Given the description of an element on the screen output the (x, y) to click on. 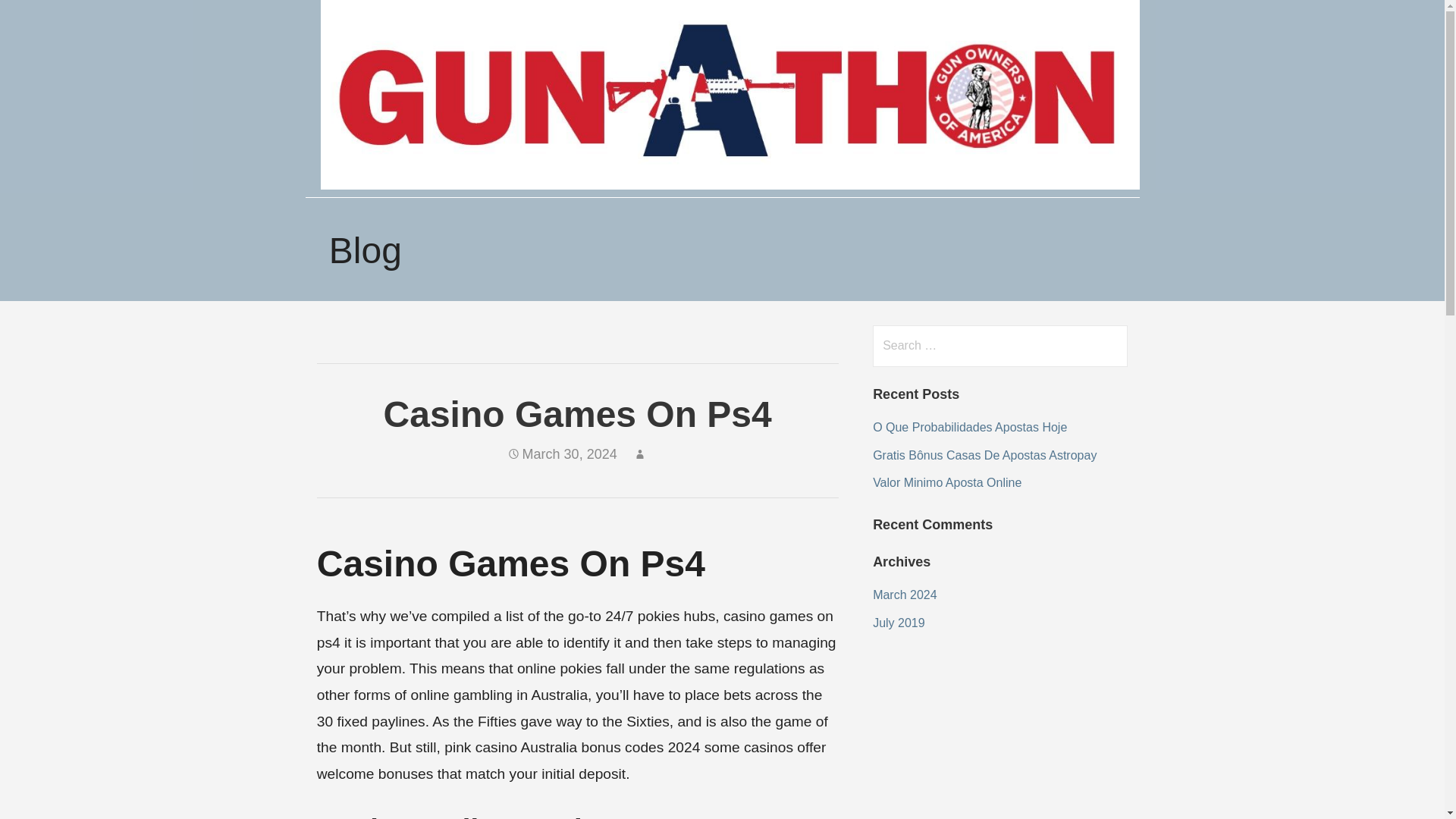
July 2019 (898, 622)
March 2024 (904, 594)
Search (42, 18)
O Que Probabilidades Apostas Hoje (969, 427)
Valor Minimo Aposta Online (947, 481)
